Given the description of an element on the screen output the (x, y) to click on. 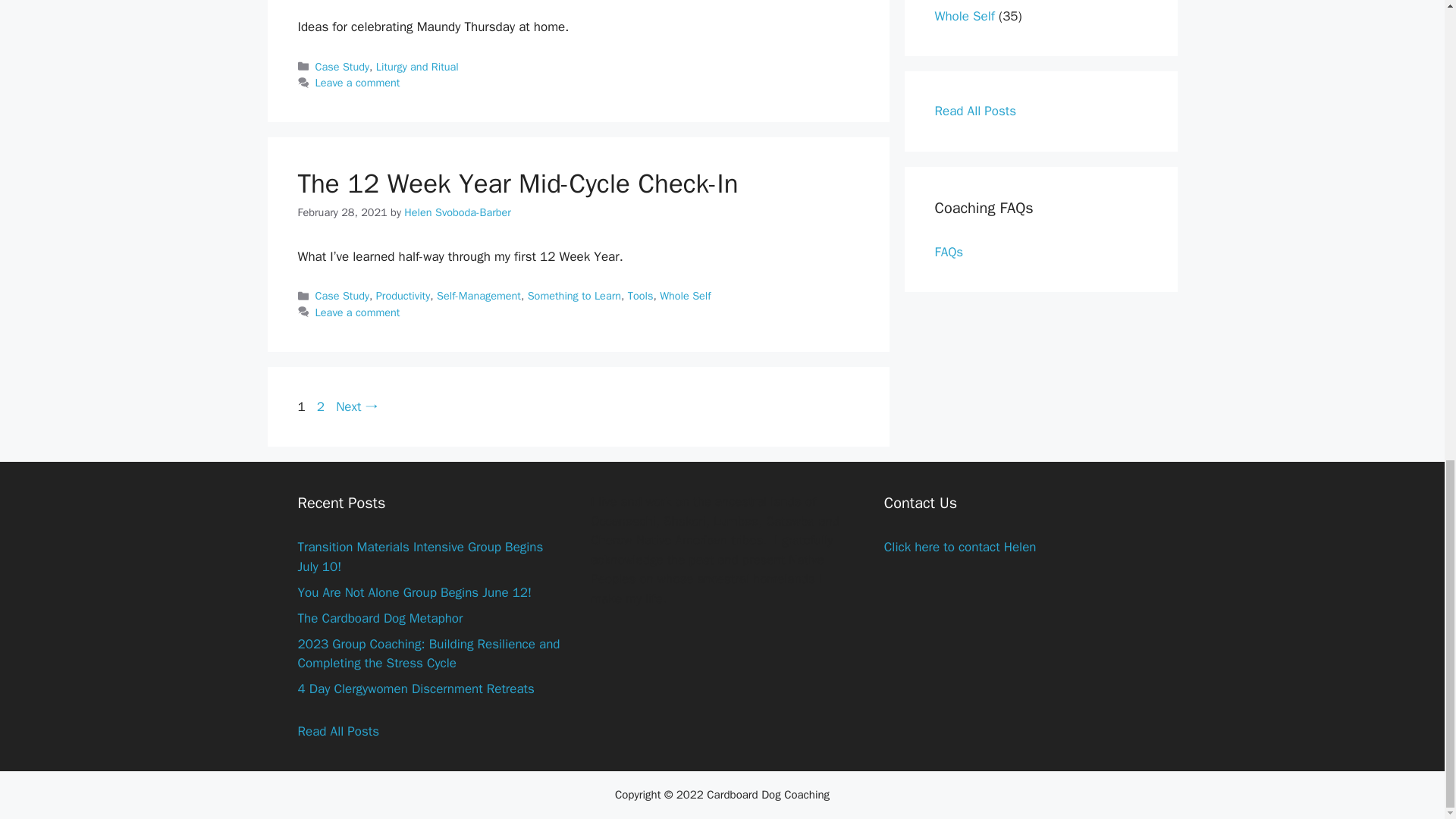
Liturgy and Ritual (416, 66)
Case Study (342, 66)
Case Study (342, 295)
Productivity (402, 295)
The 12 Week Year Mid-Cycle Check-In (517, 183)
Self-Management (478, 295)
Helen Svoboda-Barber (457, 212)
Leave a comment (357, 82)
View all posts by Helen Svoboda-Barber (457, 212)
